Given the description of an element on the screen output the (x, y) to click on. 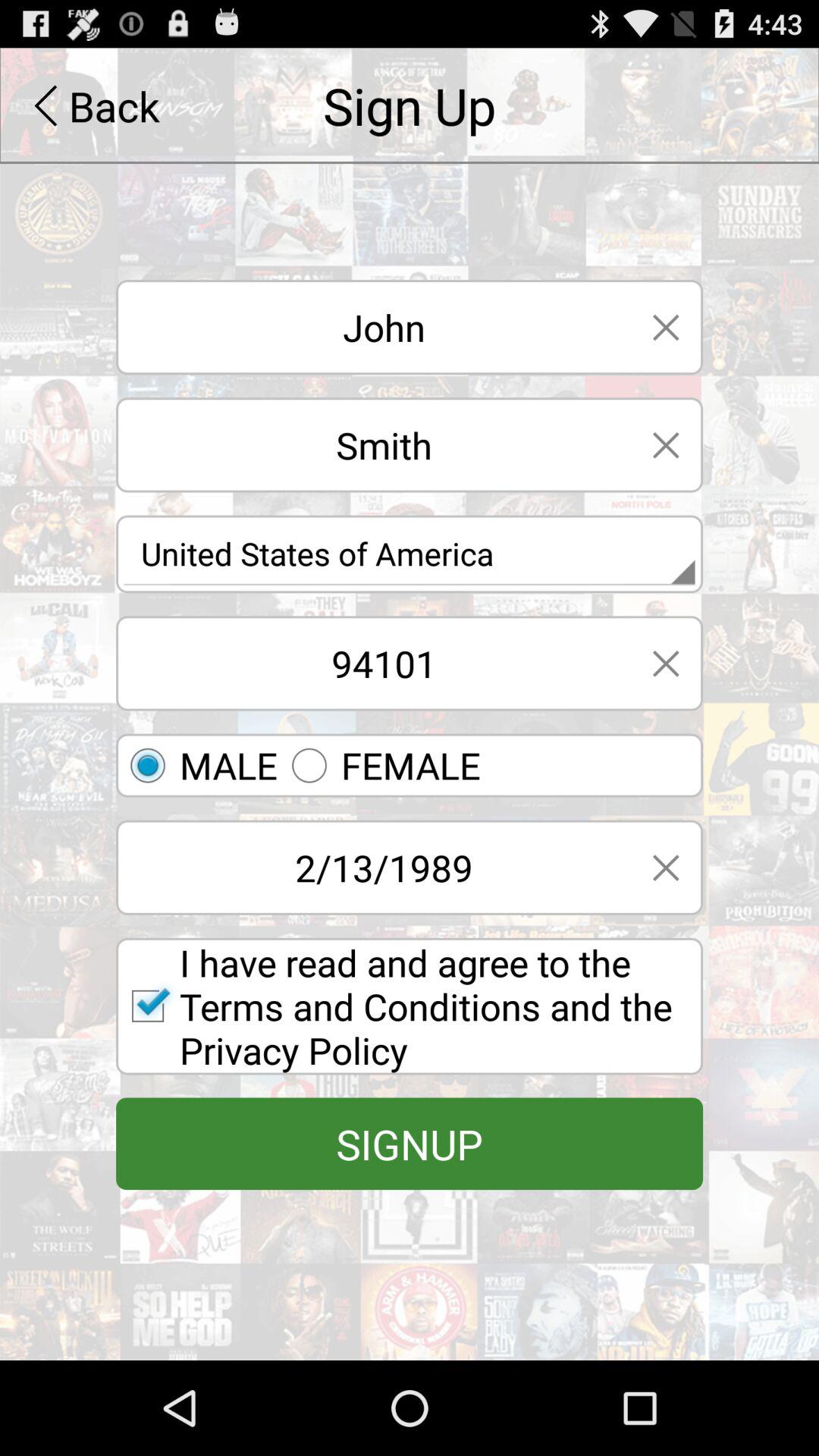
go back button option (665, 444)
